Given the description of an element on the screen output the (x, y) to click on. 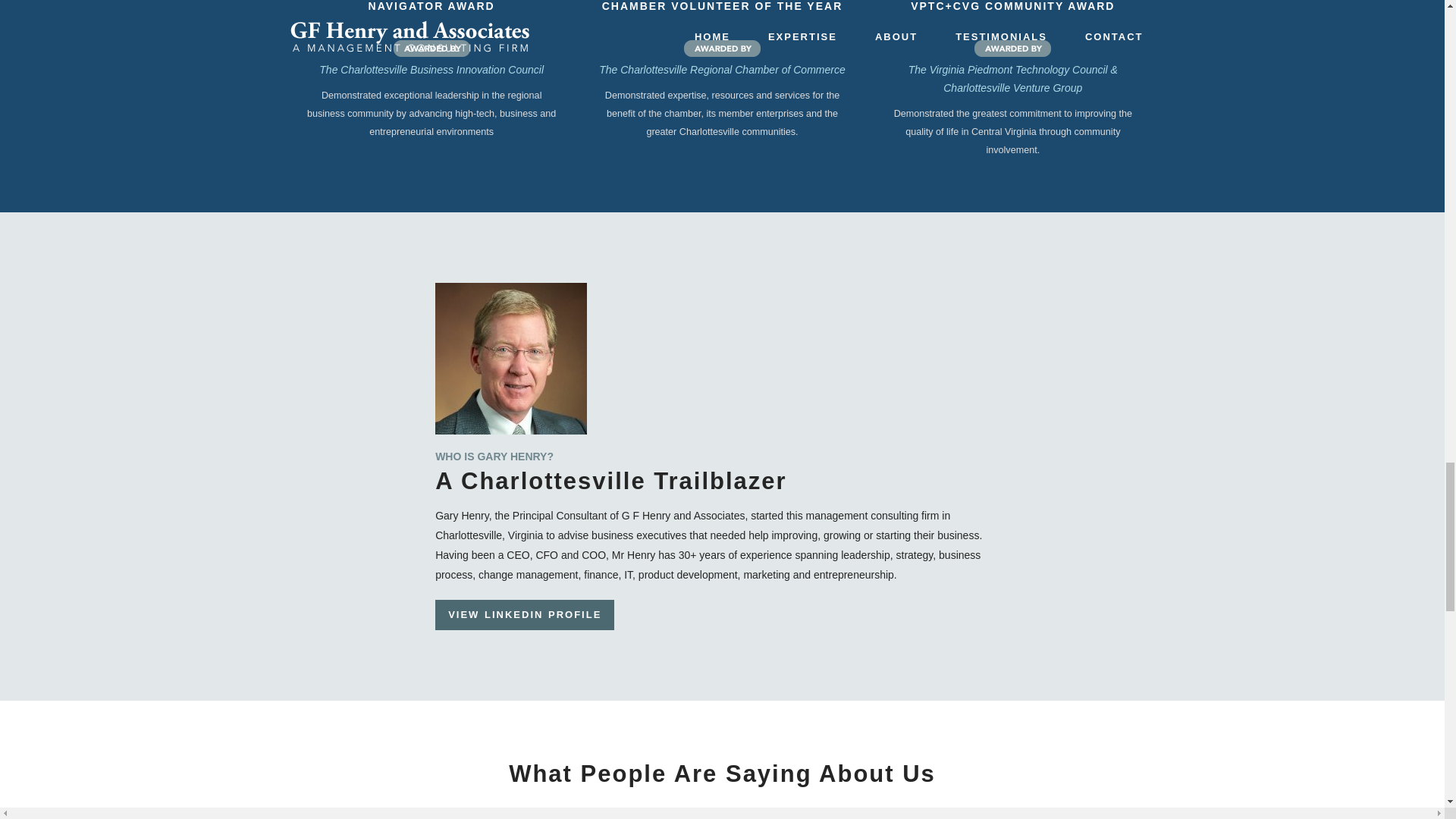
VIEW LINKEDIN PROFILE (524, 613)
VIEW LINKEDIN PROFILE (524, 614)
